Given the description of an element on the screen output the (x, y) to click on. 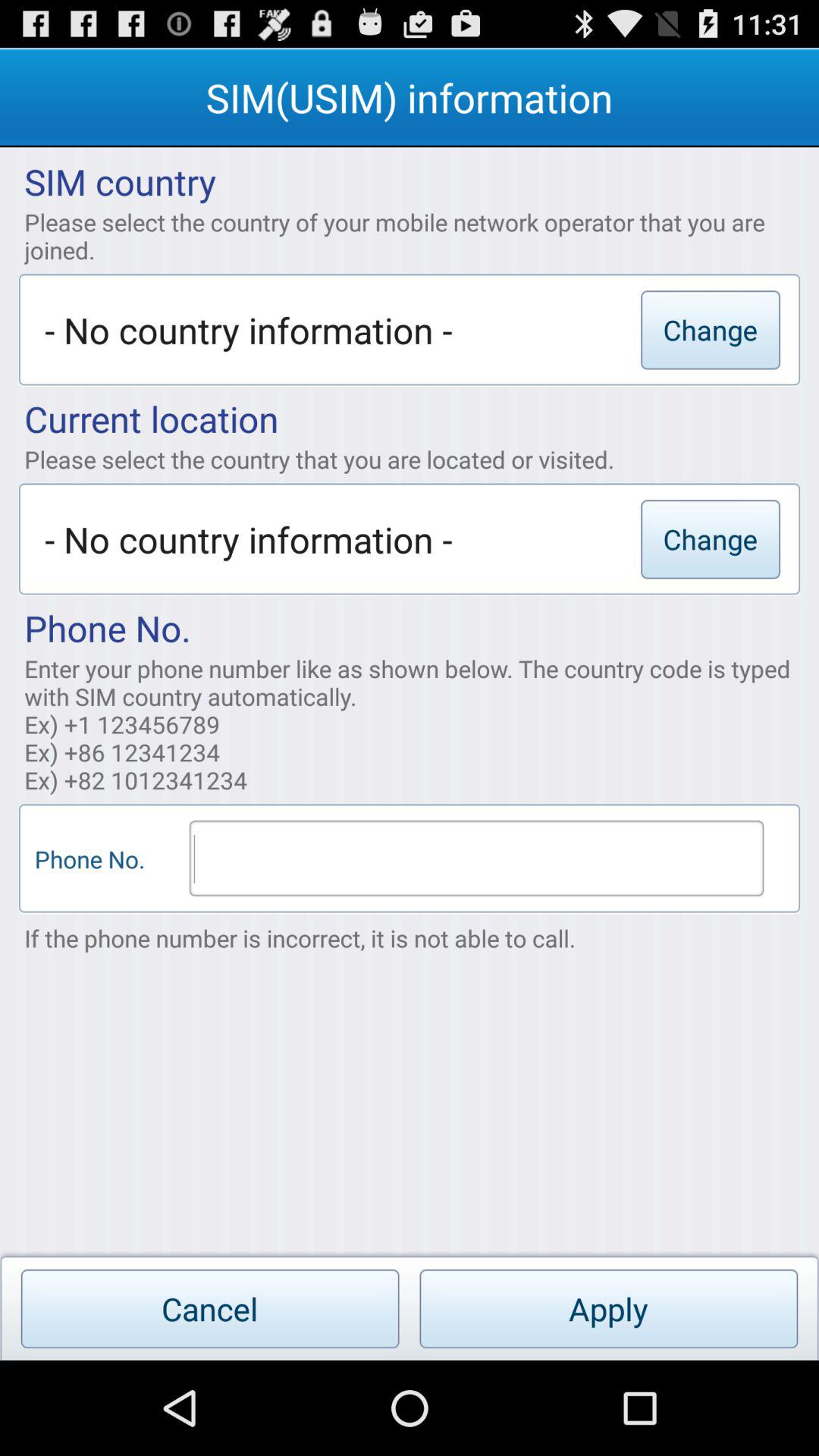
flip until the apply icon (608, 1309)
